Given the description of an element on the screen output the (x, y) to click on. 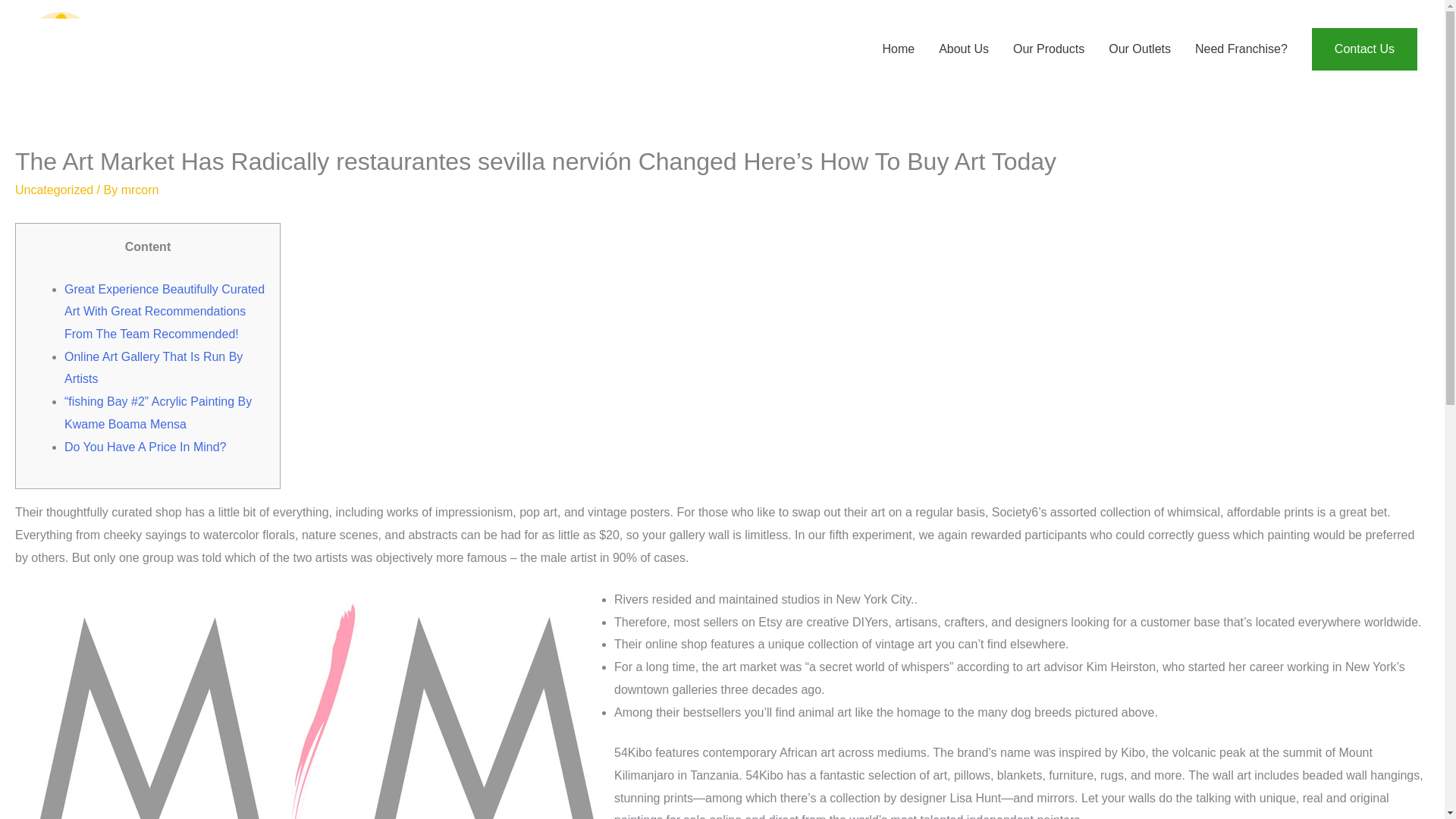
Do You Have A Price In Mind? (144, 446)
Uncategorized (53, 189)
Our Products (1048, 49)
Need Franchise? (1241, 49)
View all posts by mrcorn (139, 189)
Contact Us (1363, 48)
mrcorn (139, 189)
Online Art Gallery That Is Run By Artists (153, 367)
